Given the description of an element on the screen output the (x, y) to click on. 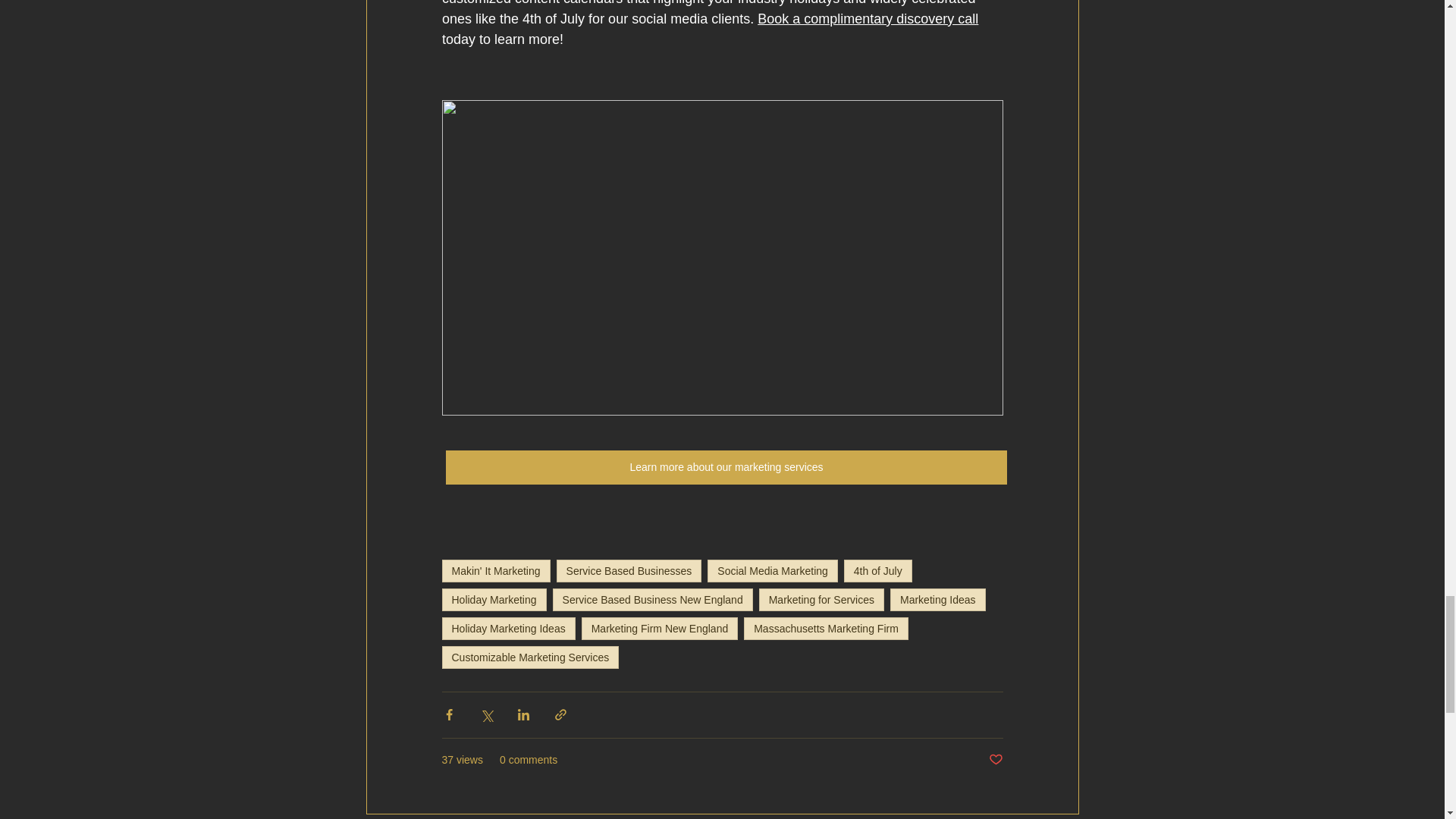
Service Based Businesses (628, 570)
4th of July (878, 570)
Marketing Firm New England (659, 628)
Holiday Marketing Ideas (508, 628)
Book a complimentary discovery call (867, 17)
Marketing for Services (820, 599)
Marketing Ideas (937, 599)
Service Based Business New England (652, 599)
Learn more about our marketing services (726, 467)
Massachusetts Marketing Firm (826, 628)
Social Media Marketing (772, 570)
Holiday Marketing (493, 599)
Makin' It Marketing (495, 570)
Customizable Marketing Services (529, 657)
